Given the description of an element on the screen output the (x, y) to click on. 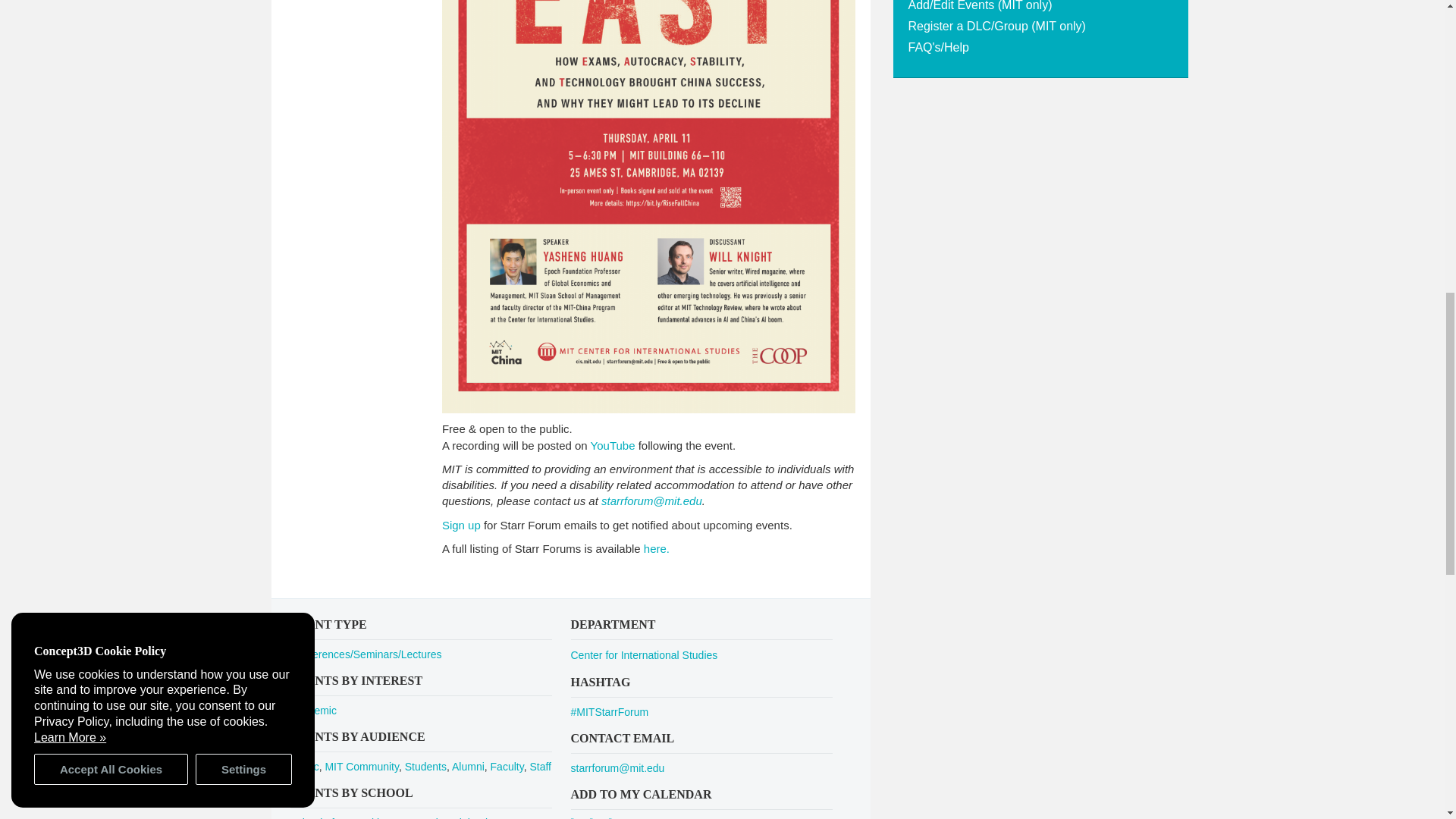
Center for International Studies (643, 654)
Staff (540, 766)
Faculty (507, 766)
Academic (312, 710)
YouTube (612, 445)
MIT Community (361, 766)
Students (425, 766)
here. (656, 548)
Sign up (461, 524)
Public (303, 766)
Alumni (467, 766)
